Given the description of an element on the screen output the (x, y) to click on. 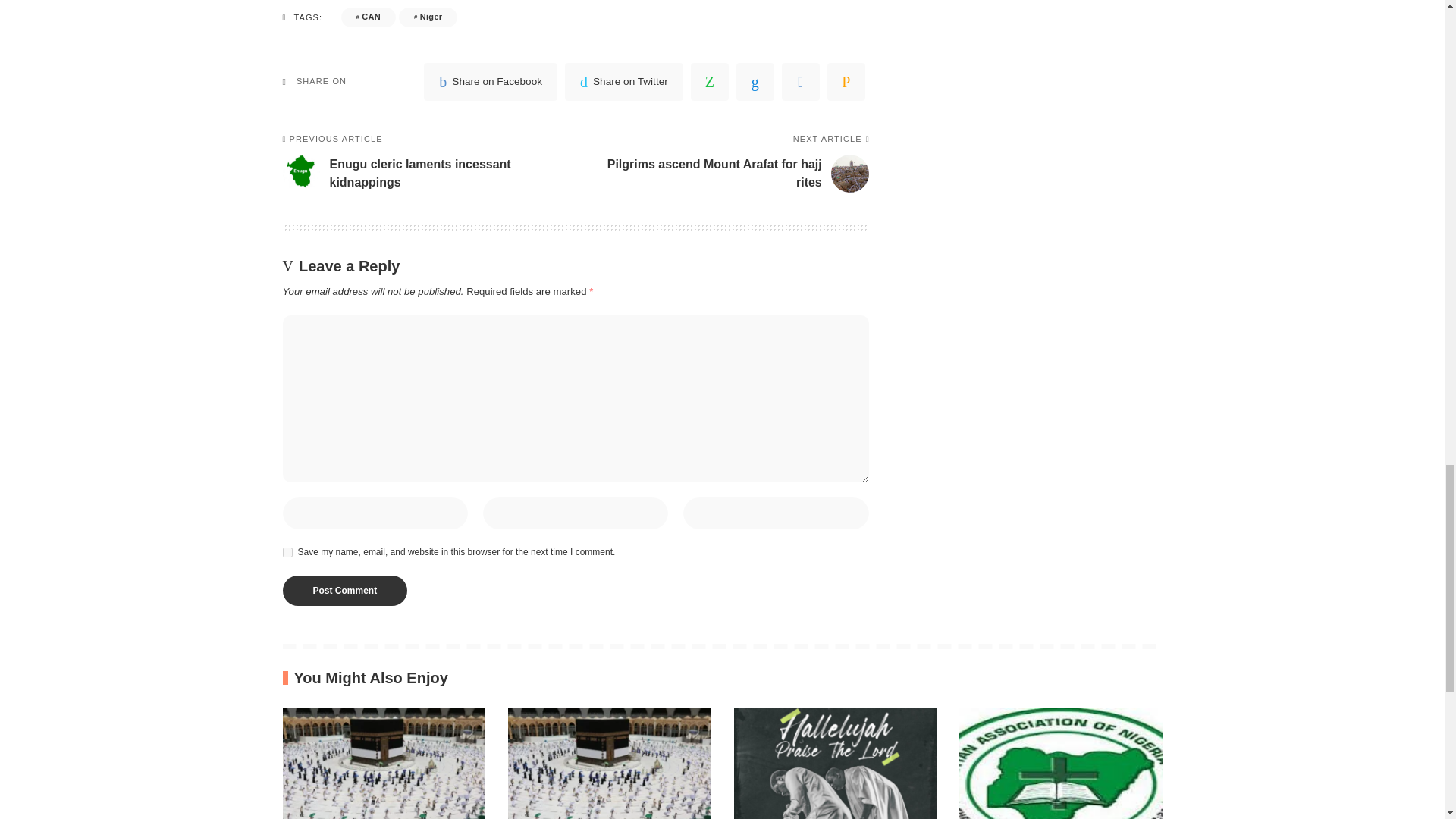
yes (287, 552)
Post Comment (344, 590)
